Given the description of an element on the screen output the (x, y) to click on. 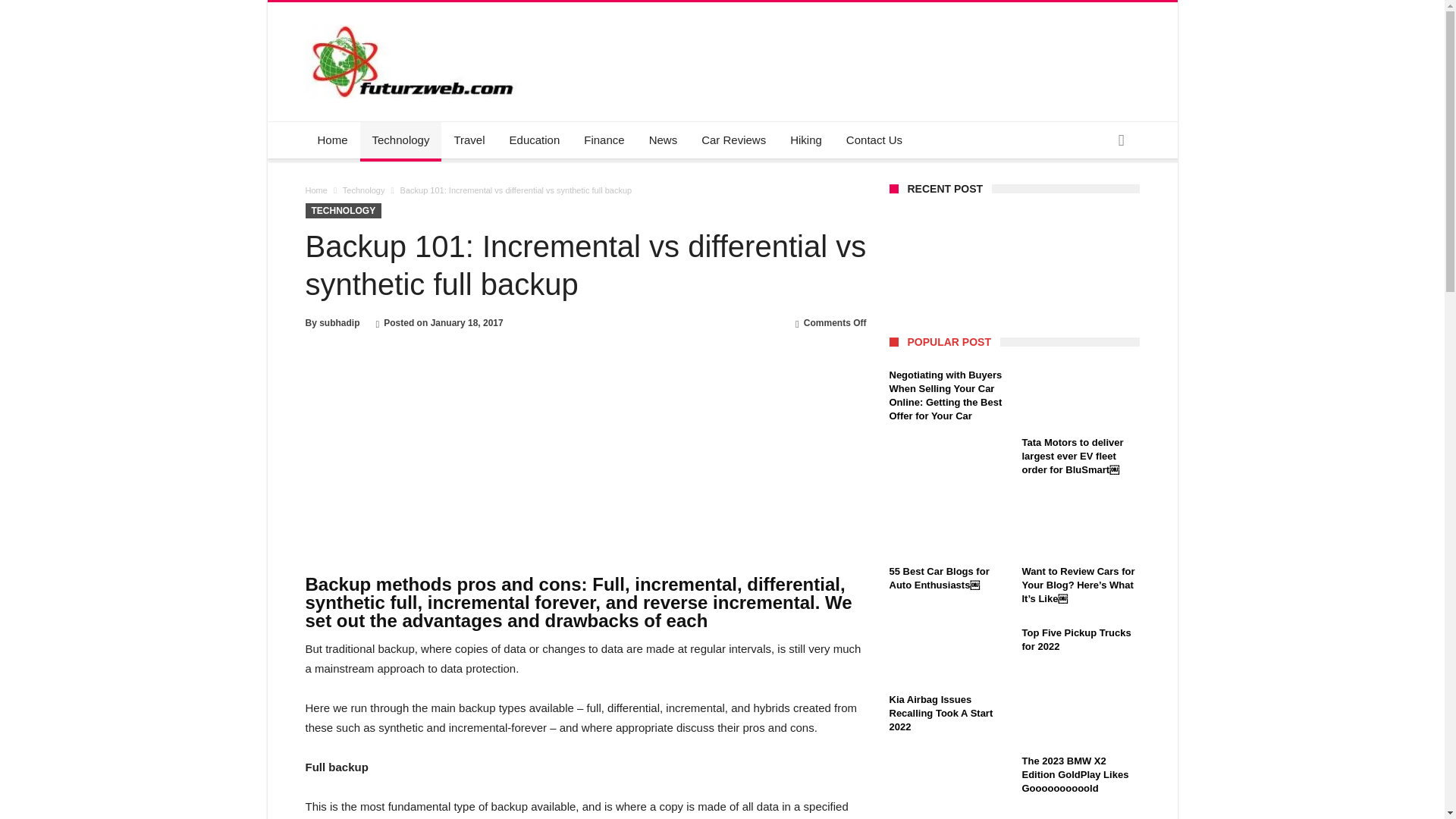
News (663, 140)
Futurzweb (414, 24)
Home (331, 140)
Education (534, 140)
Contact Us (874, 140)
Technology (363, 189)
TECHNOLOGY (342, 210)
Home (315, 189)
Car Reviews (732, 140)
Finance (604, 140)
